Given the description of an element on the screen output the (x, y) to click on. 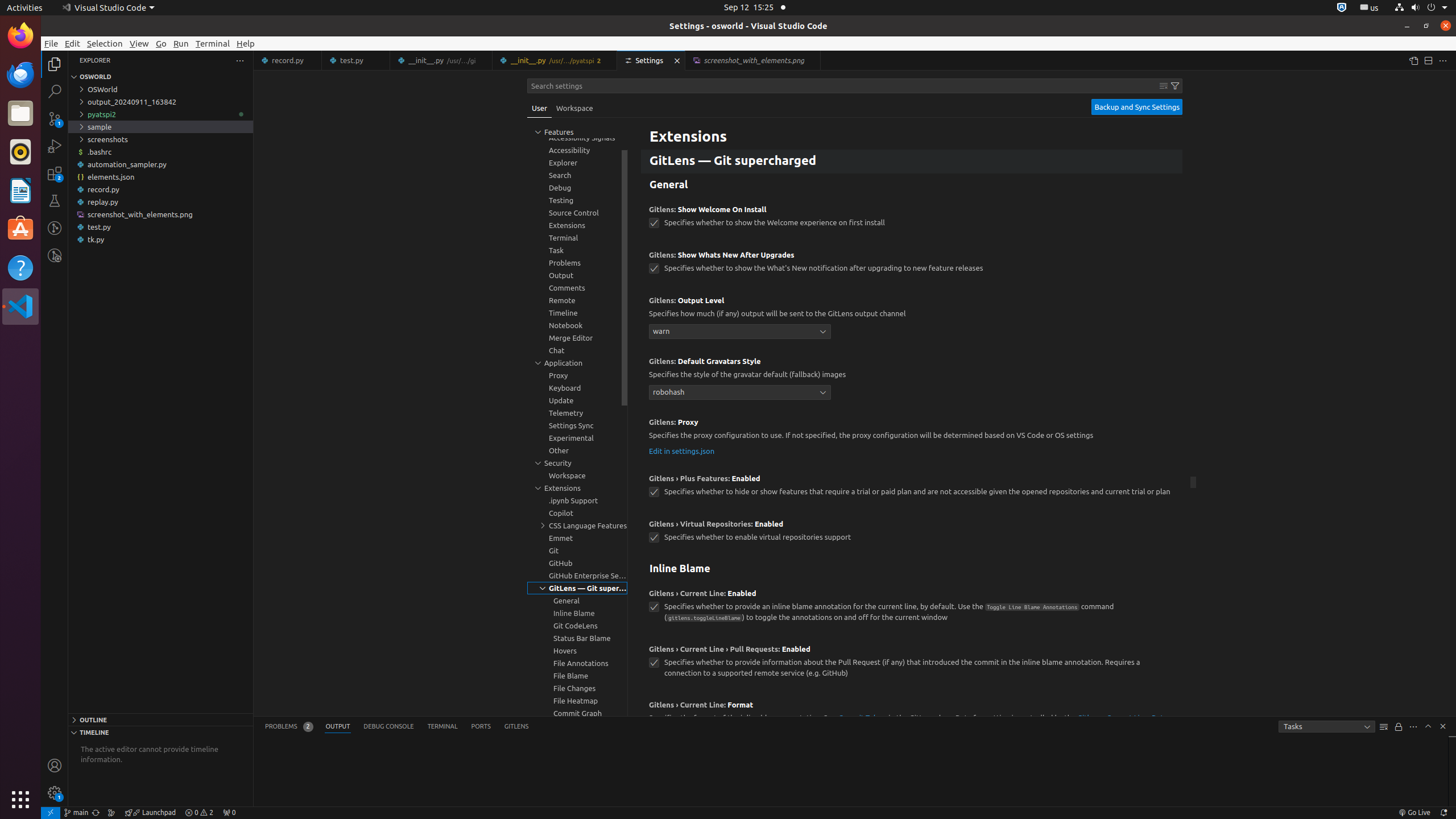
gitlens.currentLine.enabled Element type: check-box (653, 606)
Git CodeLens, group Element type: tree-item (577, 625)
Split Editor Right (Ctrl+\) [Alt] Split Editor Down Element type: push-button (1427, 60)
Chat, group Element type: tree-item (577, 350)
